Given the description of an element on the screen output the (x, y) to click on. 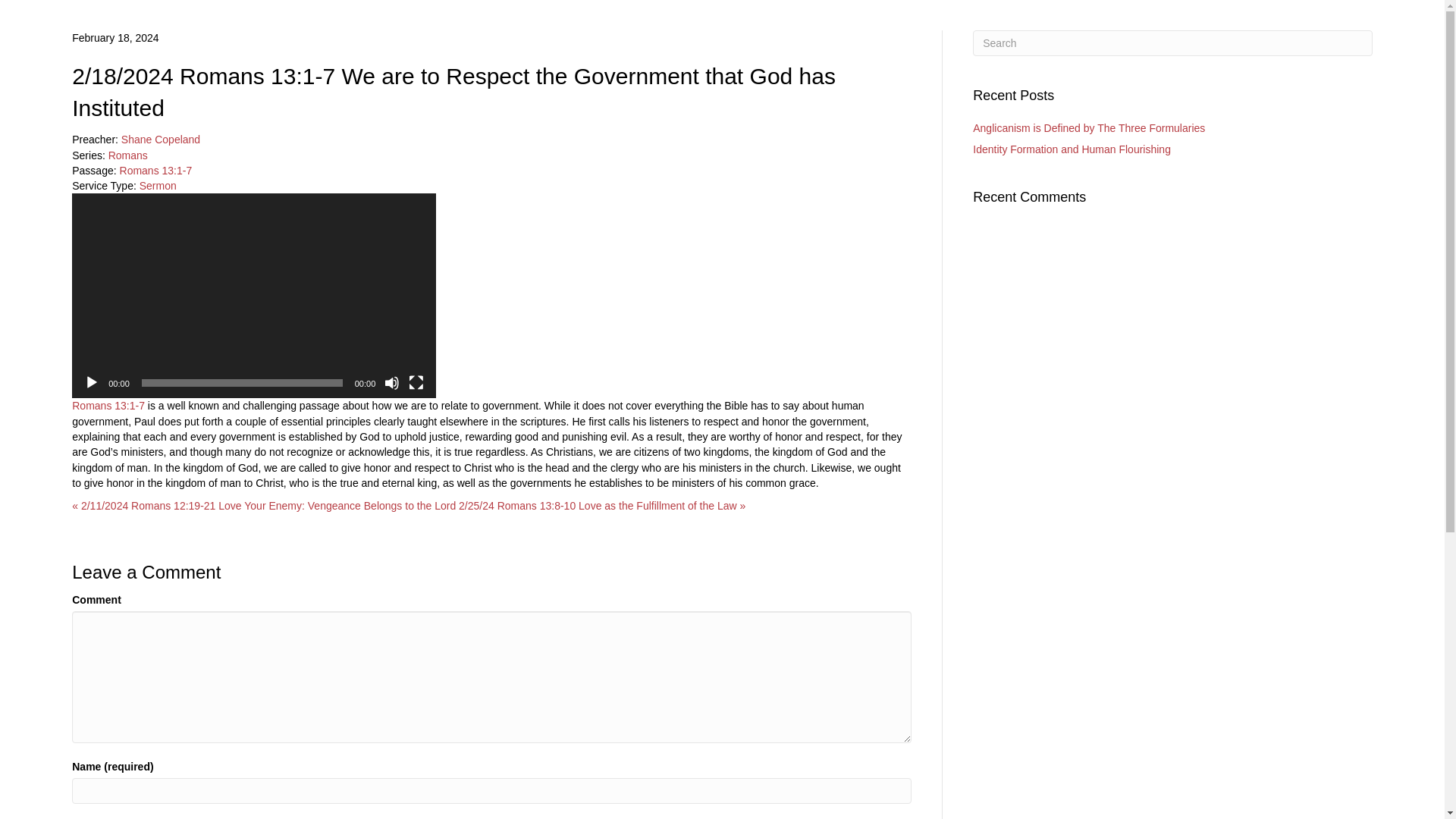
Sermon (157, 185)
Romans (127, 155)
Identity Formation and Human Flourishing (1071, 149)
Play (91, 382)
Type and press Enter to search. (1171, 43)
Mute (391, 382)
Romans 13:1-7 (107, 405)
Anglicanism is Defined by The Three Formularies (1088, 128)
Fullscreen (416, 382)
Shane Copeland (160, 139)
